Given the description of an element on the screen output the (x, y) to click on. 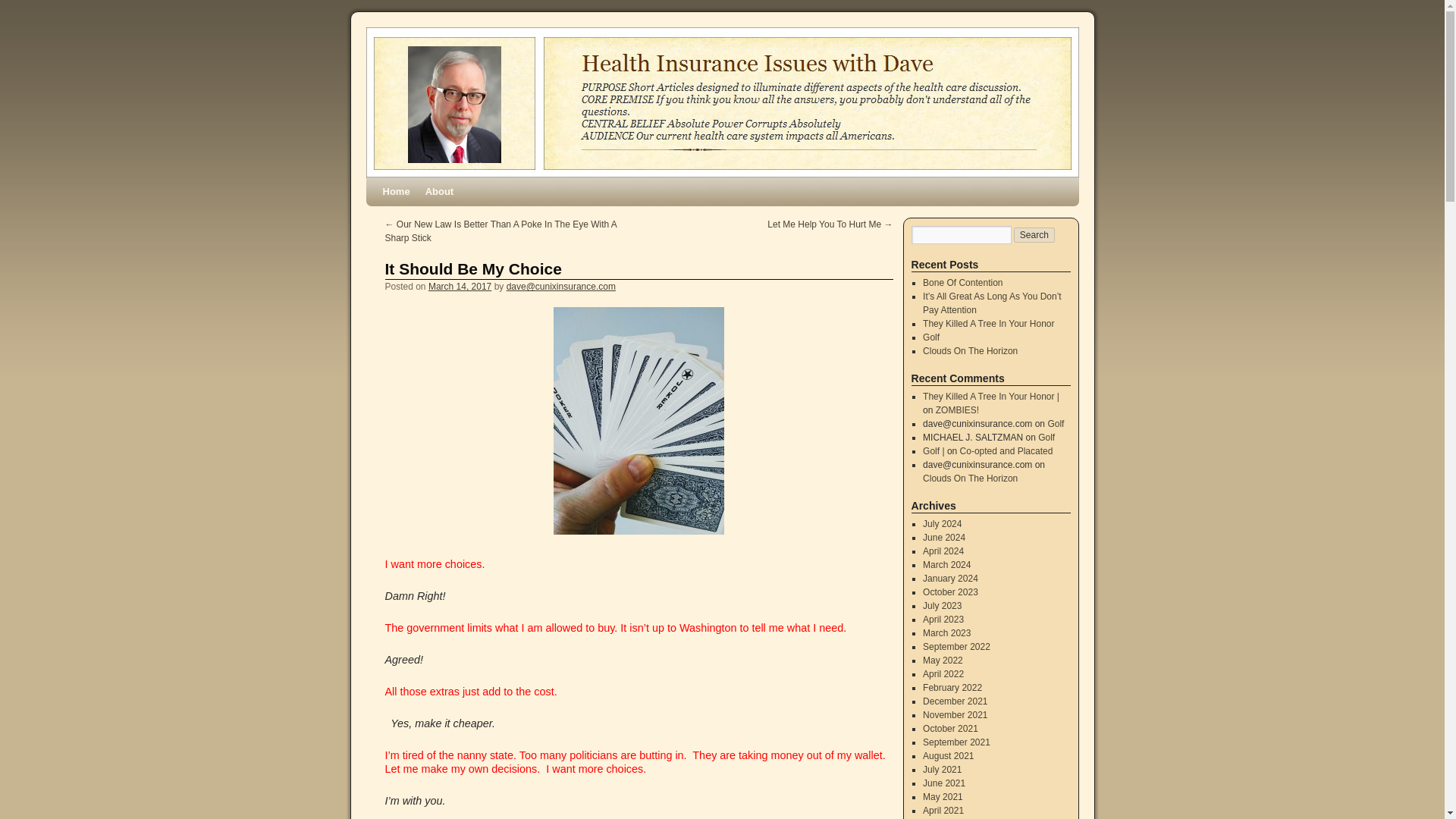
6:54 pm (460, 286)
Search (1033, 234)
About (439, 191)
March 14, 2017 (460, 286)
Home (395, 191)
